Given the description of an element on the screen output the (x, y) to click on. 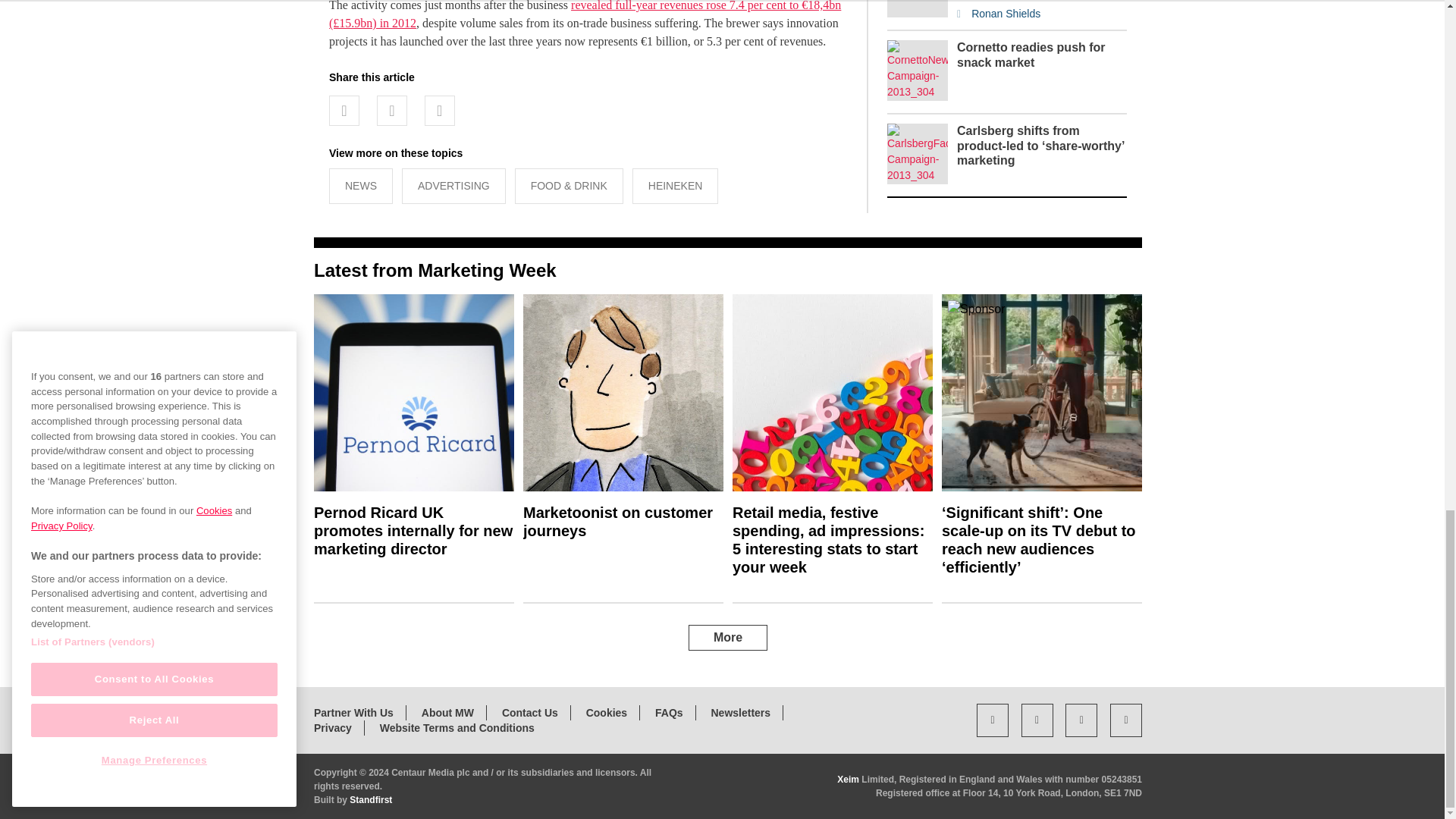
NEWS (361, 185)
ADVERTISING (453, 185)
HEINEKEN (675, 185)
Privacy (333, 727)
